Given the description of an element on the screen output the (x, y) to click on. 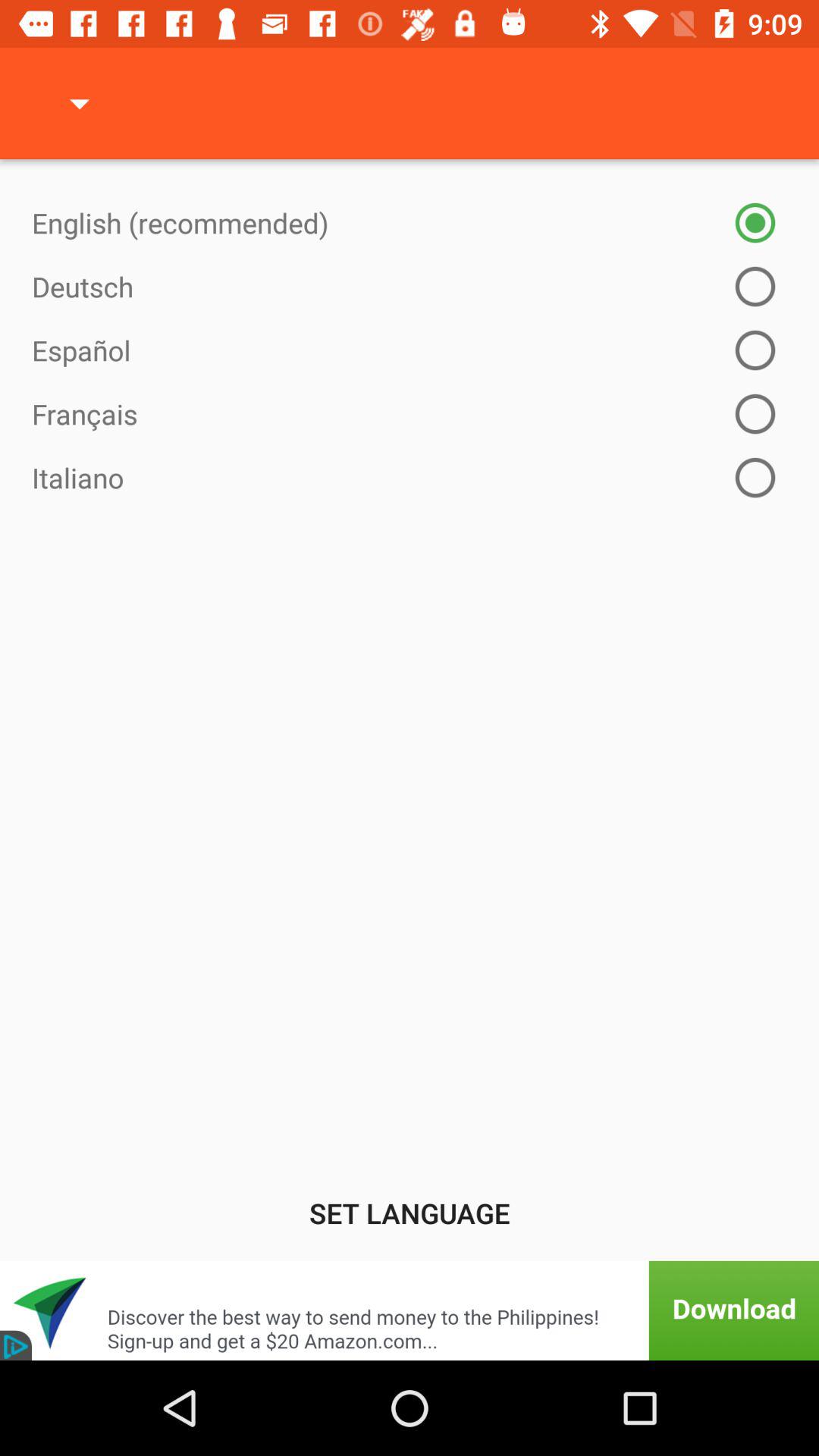
click to download (409, 1310)
